Given the description of an element on the screen output the (x, y) to click on. 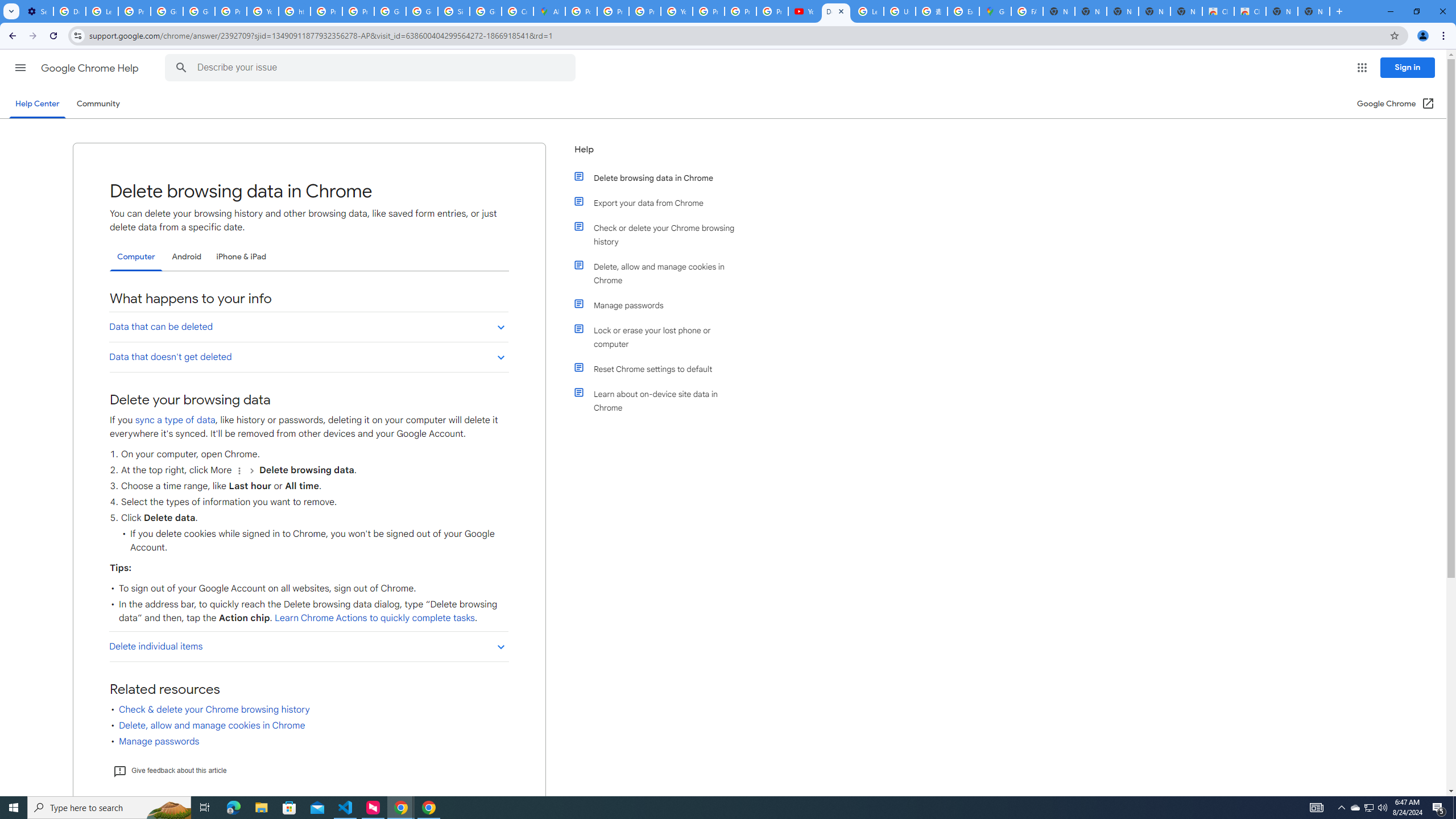
Privacy Checkup (772, 11)
YouTube (804, 11)
Give feedback about this article (169, 770)
Export your data from Chrome (661, 202)
Search Help Center (181, 67)
iPhone & iPad (240, 256)
